Given the description of an element on the screen output the (x, y) to click on. 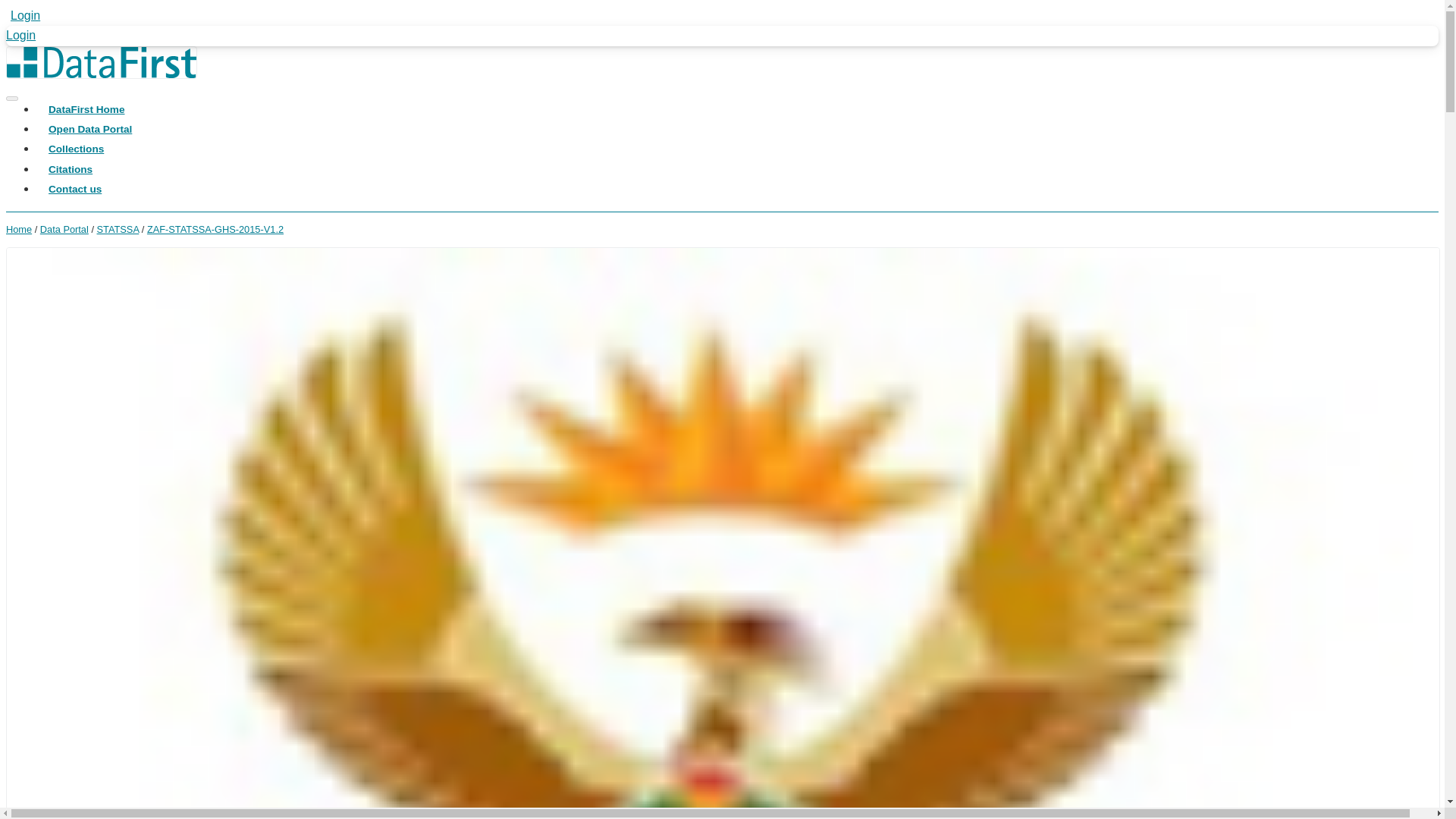
Login (22, 15)
ZAF-STATSSA-GHS-2015-V1.2 (215, 229)
Data Portal (64, 229)
STATSSA (118, 229)
Contact us (74, 183)
Open Data Portal (90, 122)
DataFirst Home (85, 102)
Home (18, 229)
Collections (75, 142)
Login (19, 34)
Citations (70, 163)
